Given the description of an element on the screen output the (x, y) to click on. 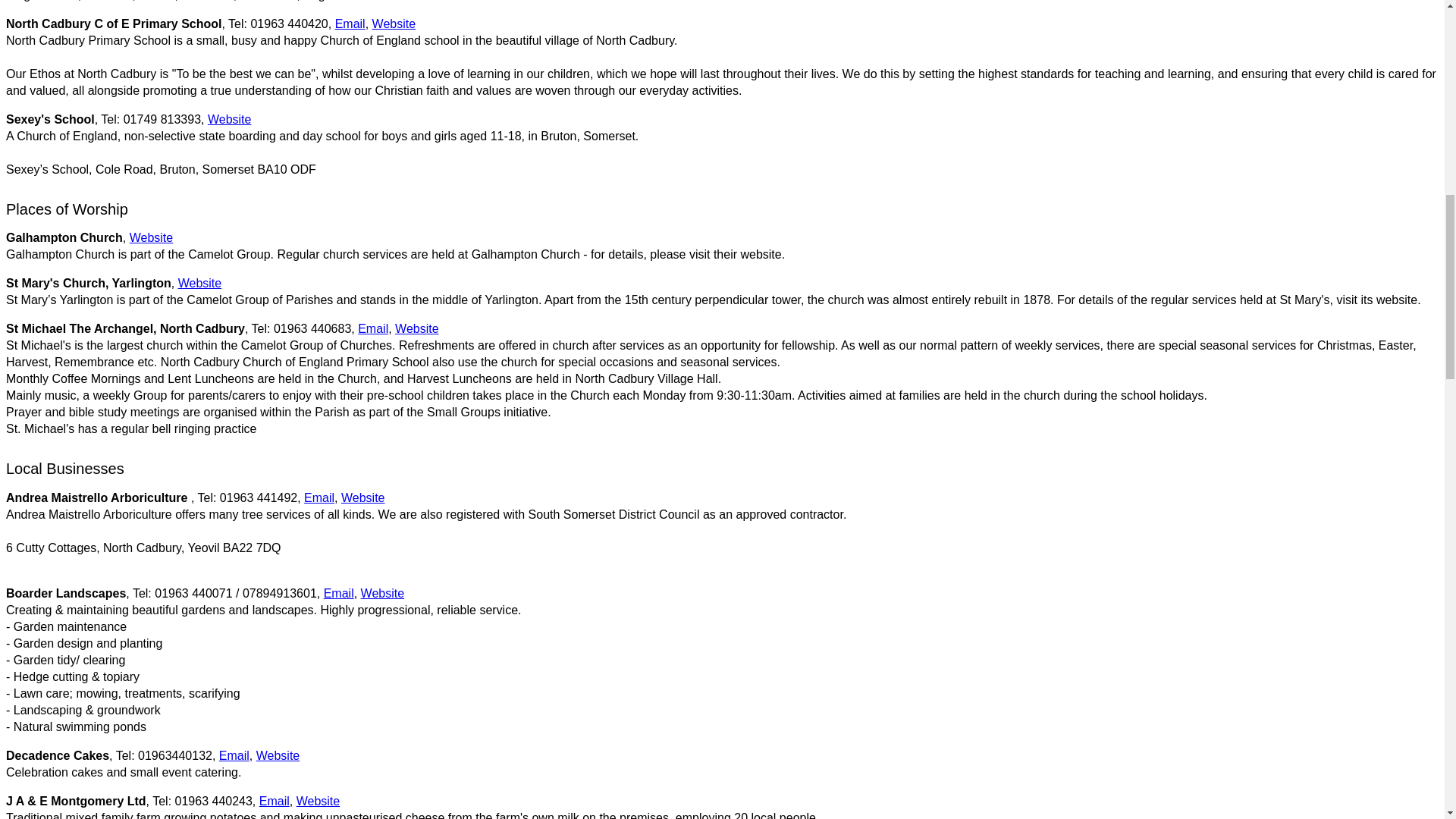
Website (382, 593)
Website (394, 23)
Website (151, 237)
Website (416, 328)
Email (319, 497)
Website (362, 497)
Email (349, 23)
Website (229, 119)
Email (373, 328)
Website (318, 800)
Email (274, 800)
Website (277, 755)
Email (338, 593)
Website (199, 282)
Email (233, 755)
